Given the description of an element on the screen output the (x, y) to click on. 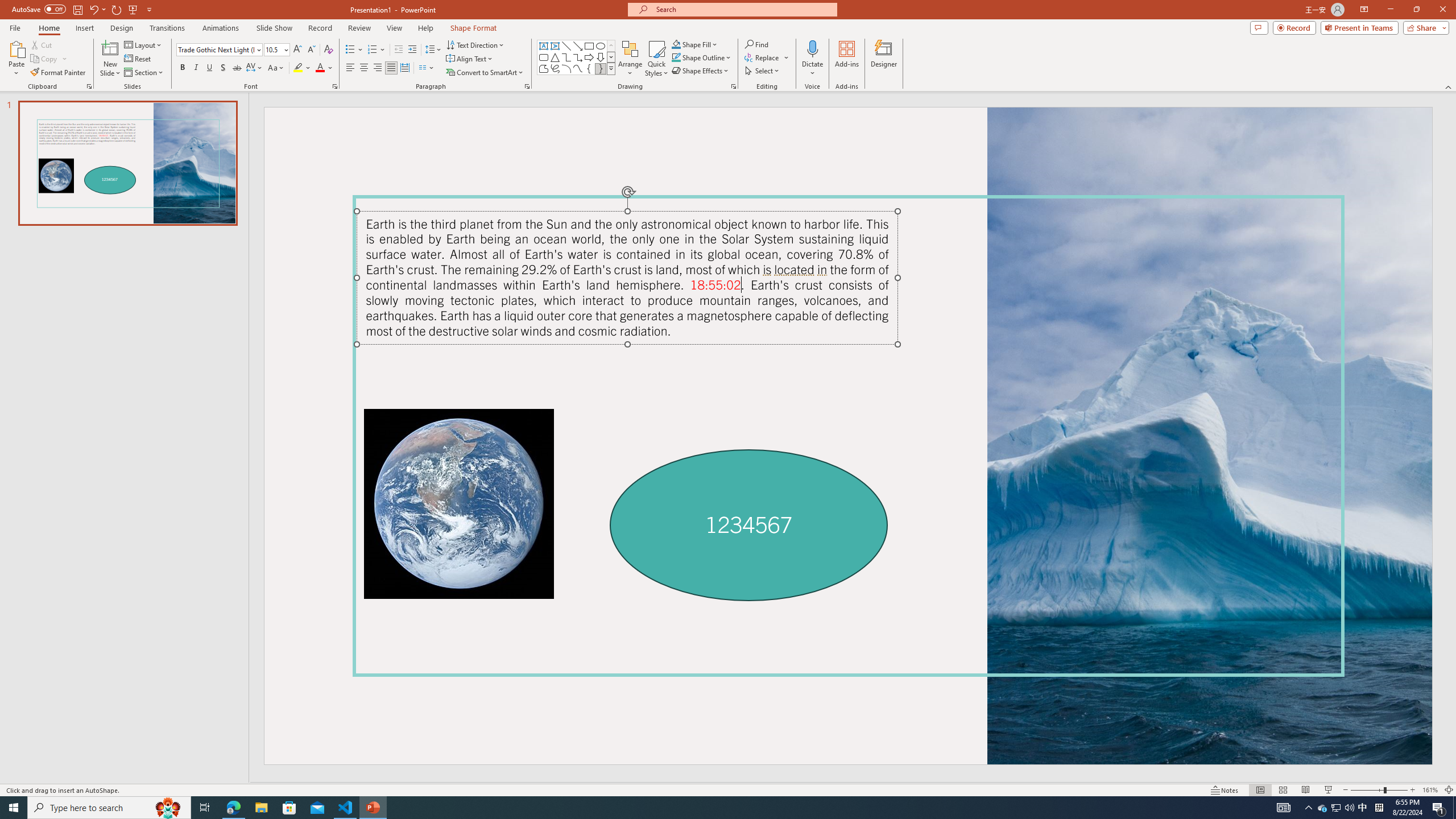
Section (144, 72)
Arrange (630, 58)
Freeform: Scribble (554, 68)
Curve (577, 68)
Center (363, 67)
Shape Fill (694, 44)
Line Arrow (577, 45)
Columns (426, 67)
